Given the description of an element on the screen output the (x, y) to click on. 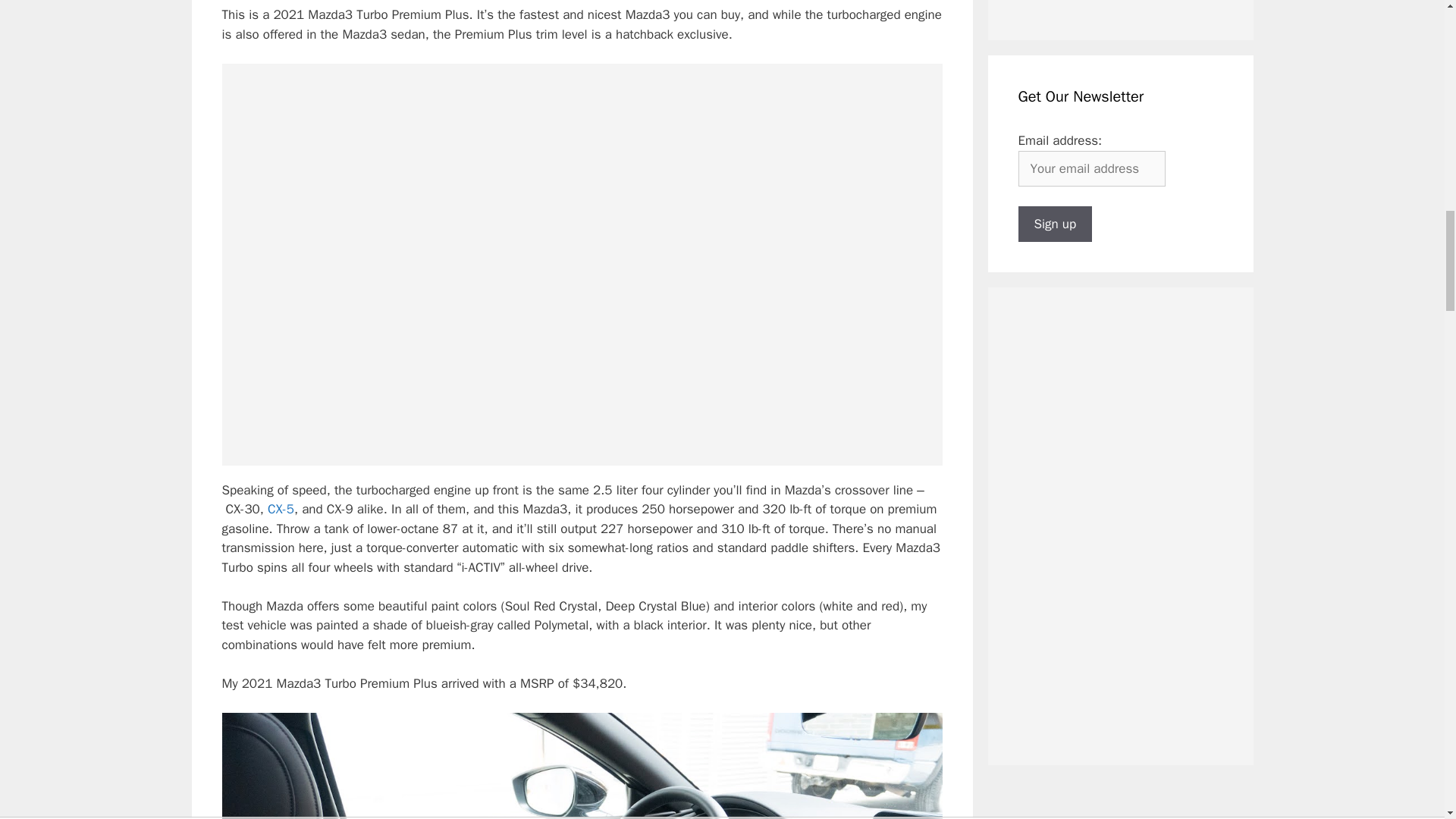
Sign up (1054, 224)
CX-5 (280, 508)
Sign up (1054, 224)
